Given the description of an element on the screen output the (x, y) to click on. 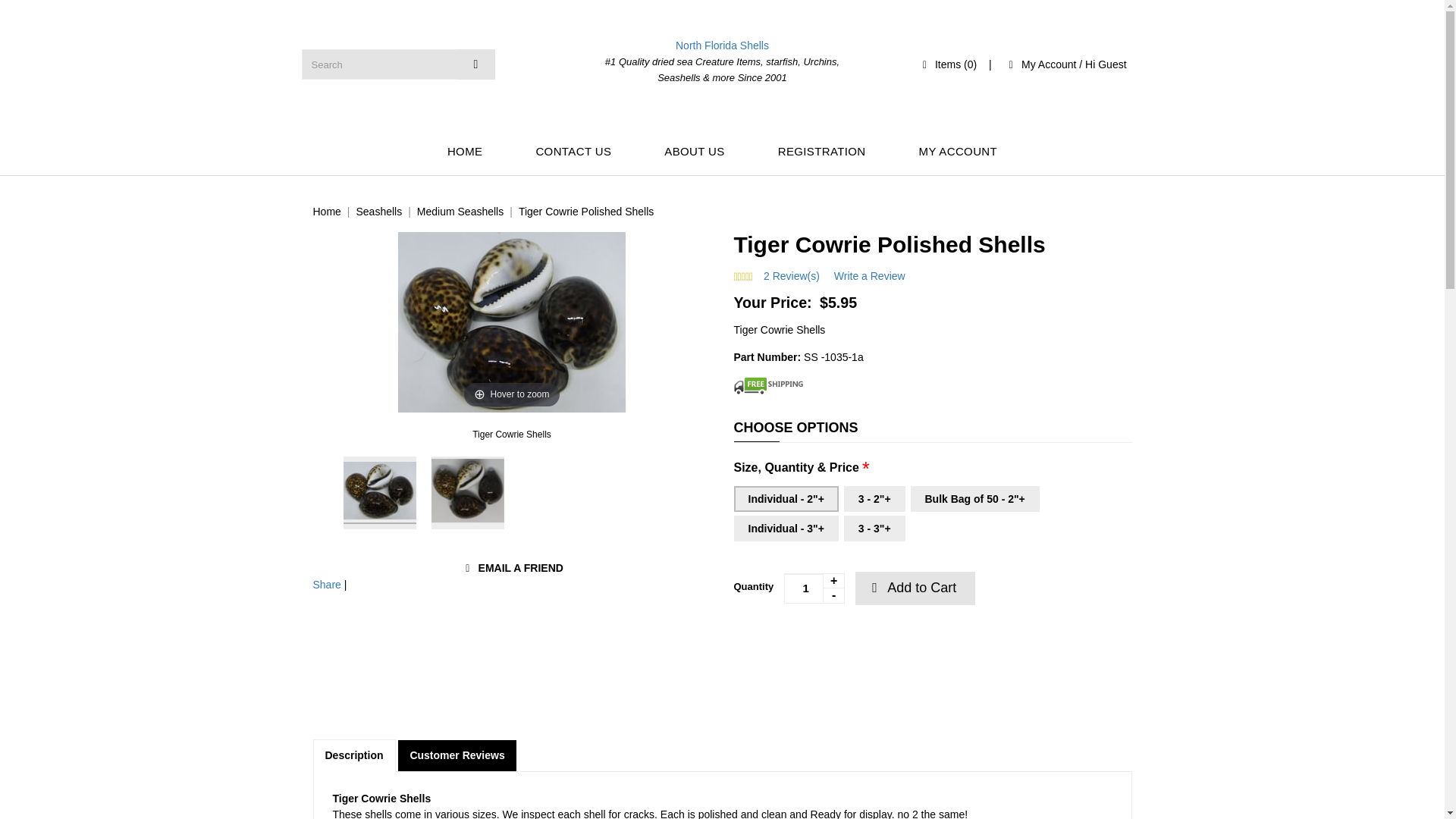
REGISTRATION (822, 152)
PayPal (828, 644)
Tiger Cowrie Shells  (466, 492)
Tiger Cowrie Shells  (511, 434)
Bulk Bag of 50 - 2 (974, 498)
1 (814, 588)
3 - 3 (874, 528)
3 - 2 (874, 498)
Tiger Cowrie Shells  (378, 492)
ABOUT US (693, 152)
CONTACT US (573, 152)
Individual - 3 (785, 528)
HOME (465, 152)
MY ACCOUNT (958, 152)
North Florida Shells (721, 45)
